Given the description of an element on the screen output the (x, y) to click on. 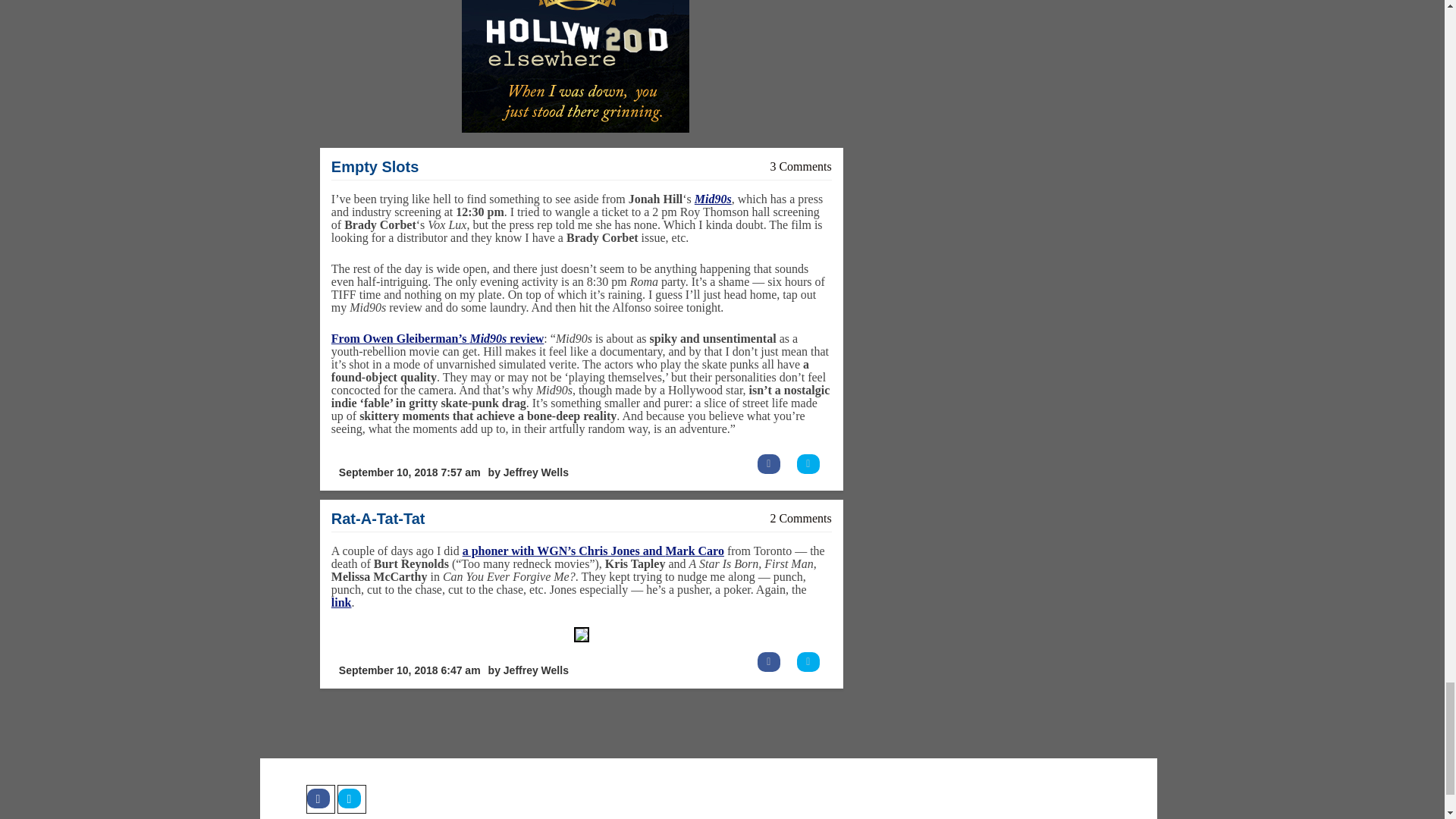
Permanent Link to Empty Slots (375, 166)
Permanent Link to Rat-A-Tat-Tat (378, 518)
Twitter (350, 799)
Facebook (319, 799)
